Given the description of an element on the screen output the (x, y) to click on. 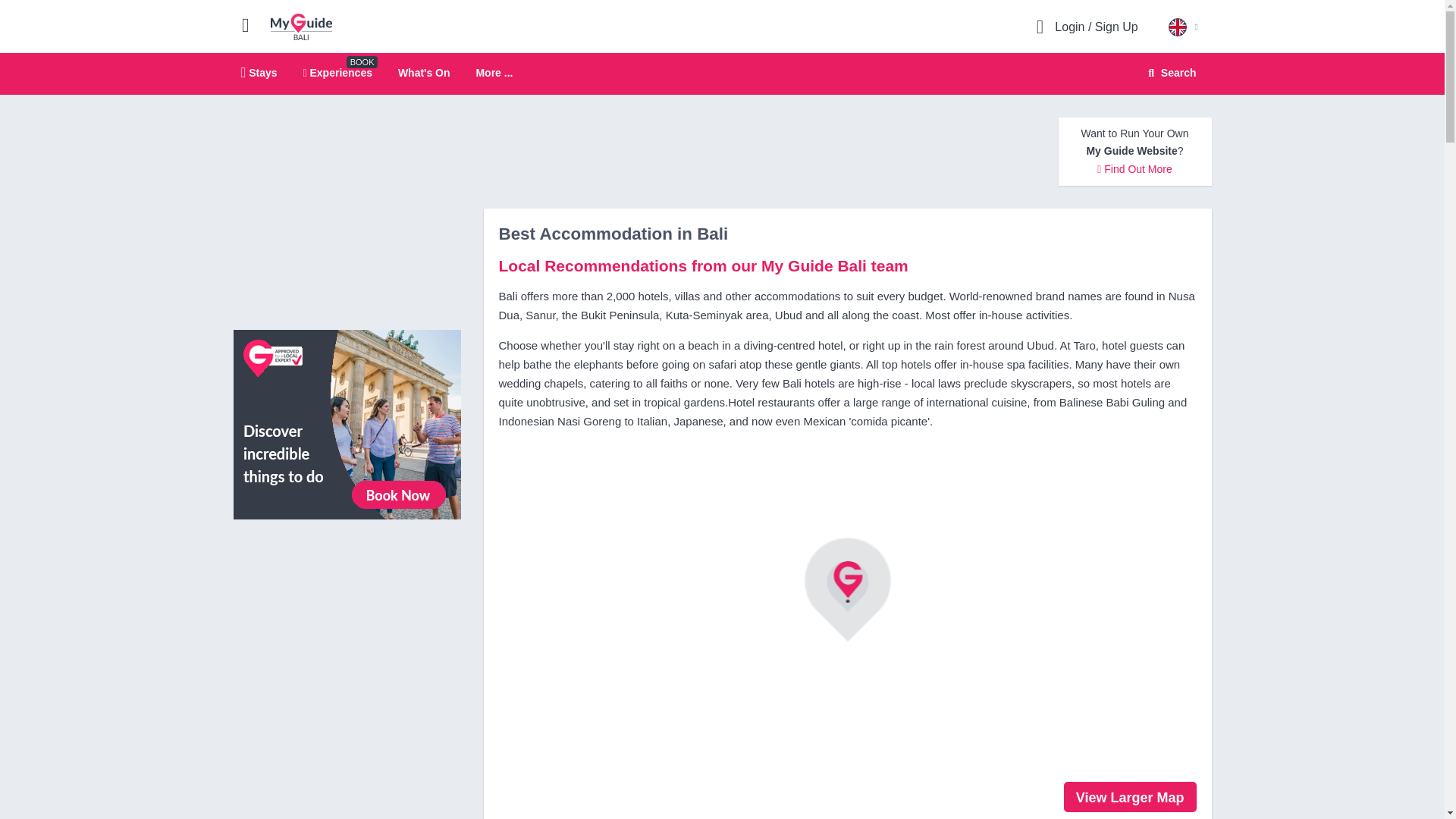
View All Experiences (346, 423)
Search (1169, 72)
Experiences (337, 72)
Larger Map for Company: Accommodation  (1130, 797)
GetYourGuide Widget (346, 599)
More ... (494, 72)
Stays (259, 72)
What's On (423, 72)
My Guide Bali (721, 74)
